Given the description of an element on the screen output the (x, y) to click on. 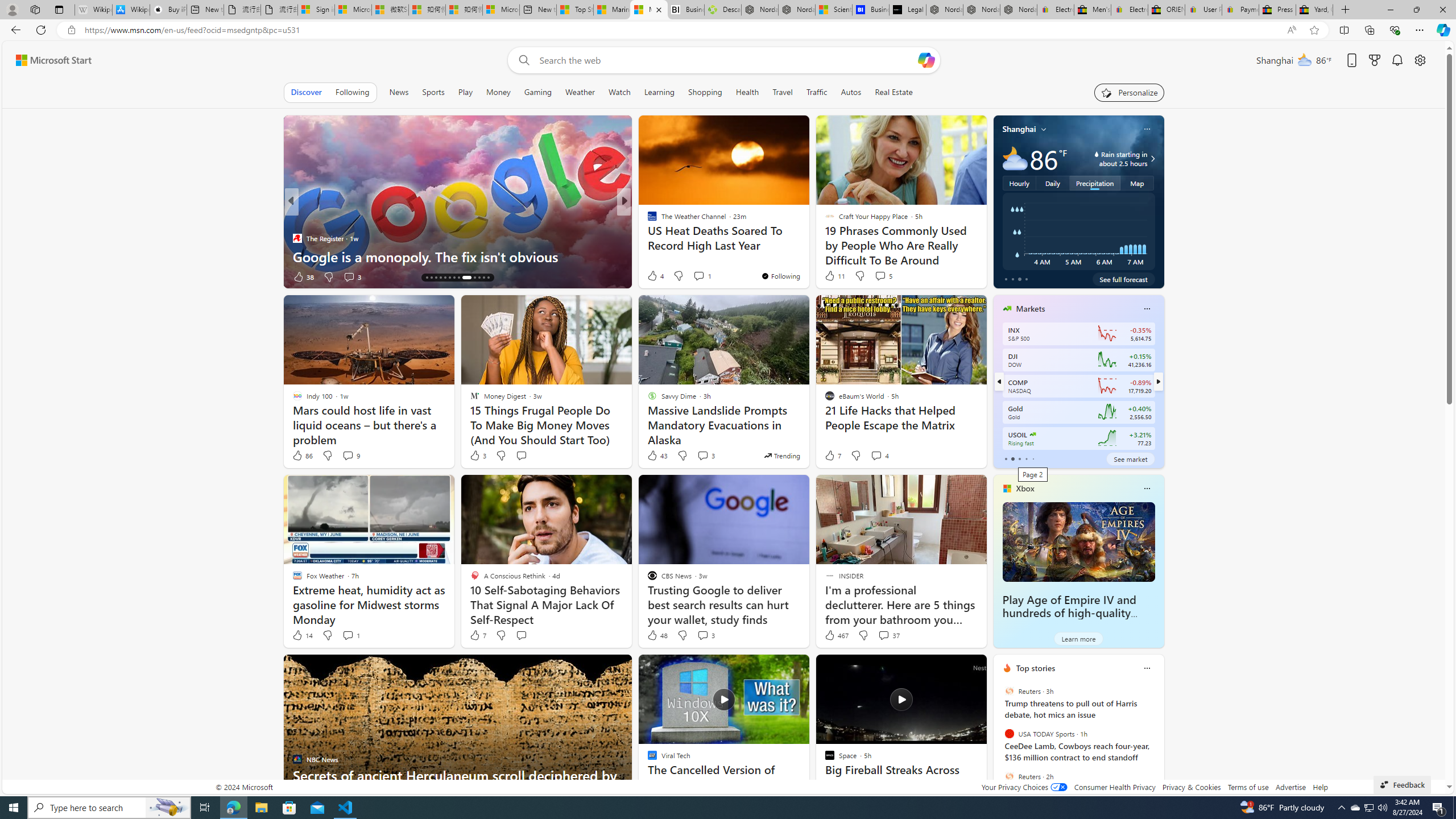
water-drop-icon (1096, 154)
View comments 5 Comment (879, 275)
water-drop-icon Rain starting in about 2.5 hours (1110, 158)
Personalize your feed" (1129, 92)
